Given the description of an element on the screen output the (x, y) to click on. 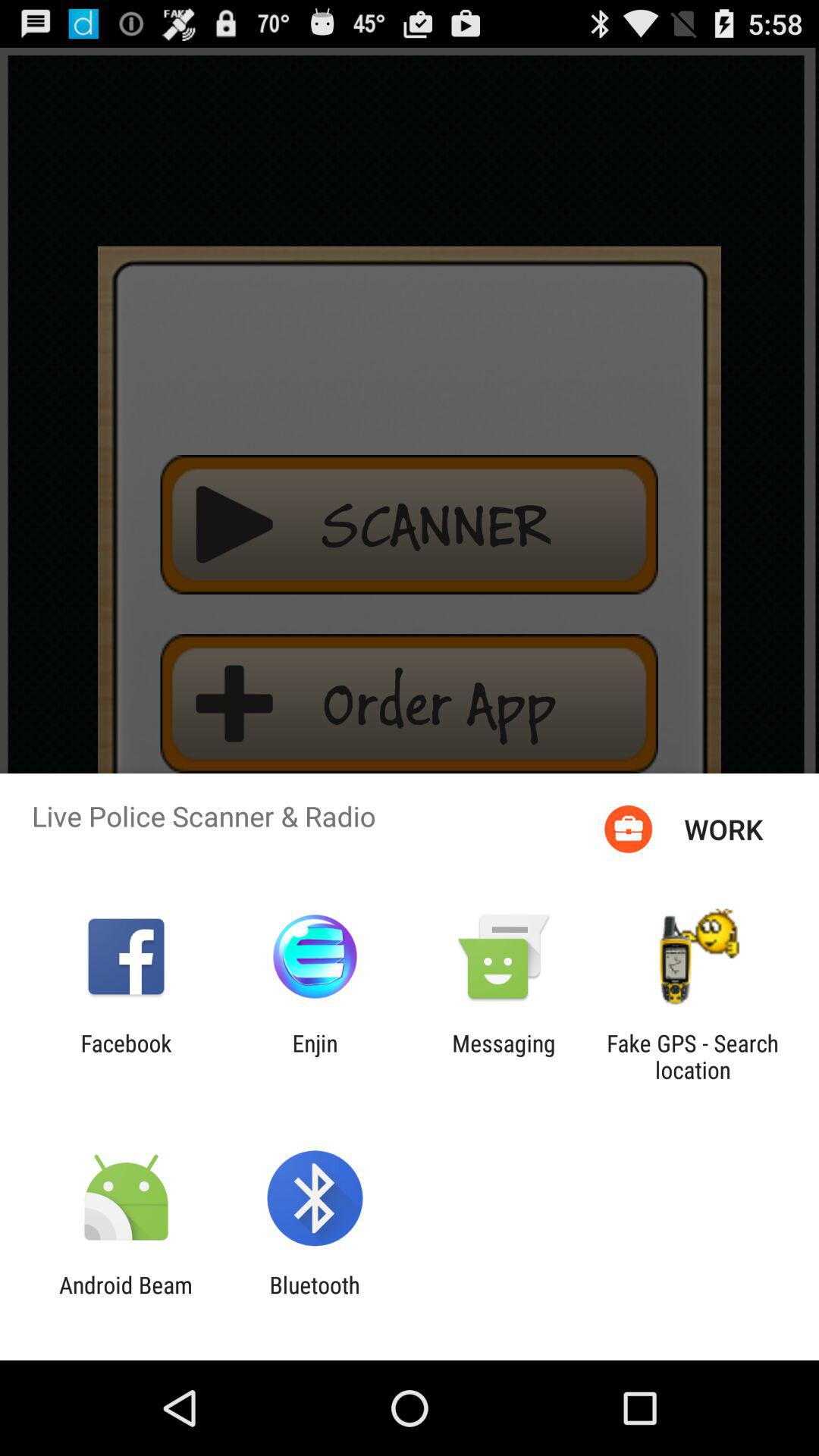
click the icon to the left of messaging item (314, 1056)
